Given the description of an element on the screen output the (x, y) to click on. 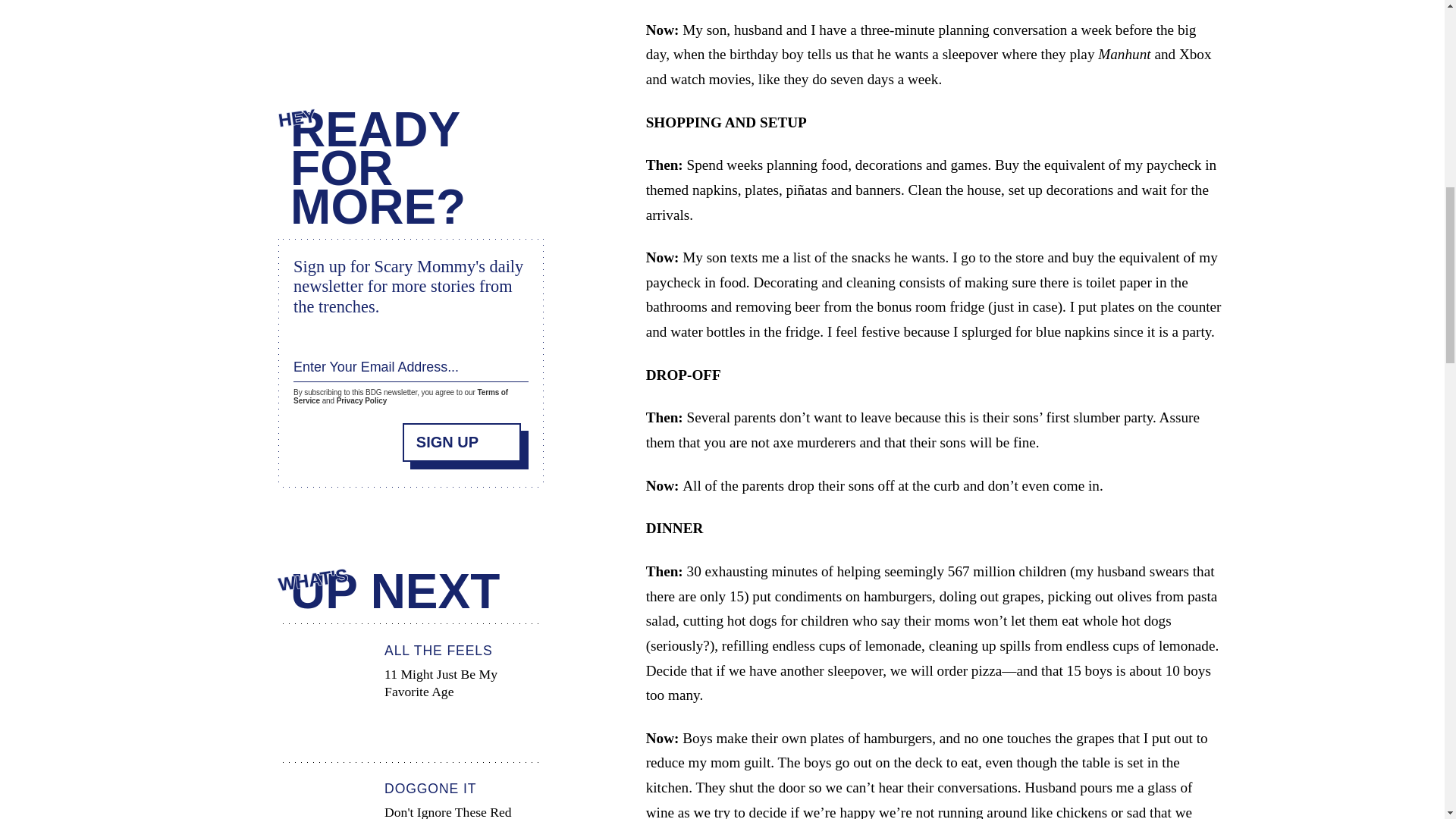
Terms of Service (401, 391)
SIGN UP (462, 434)
Privacy Policy (410, 690)
